Given the description of an element on the screen output the (x, y) to click on. 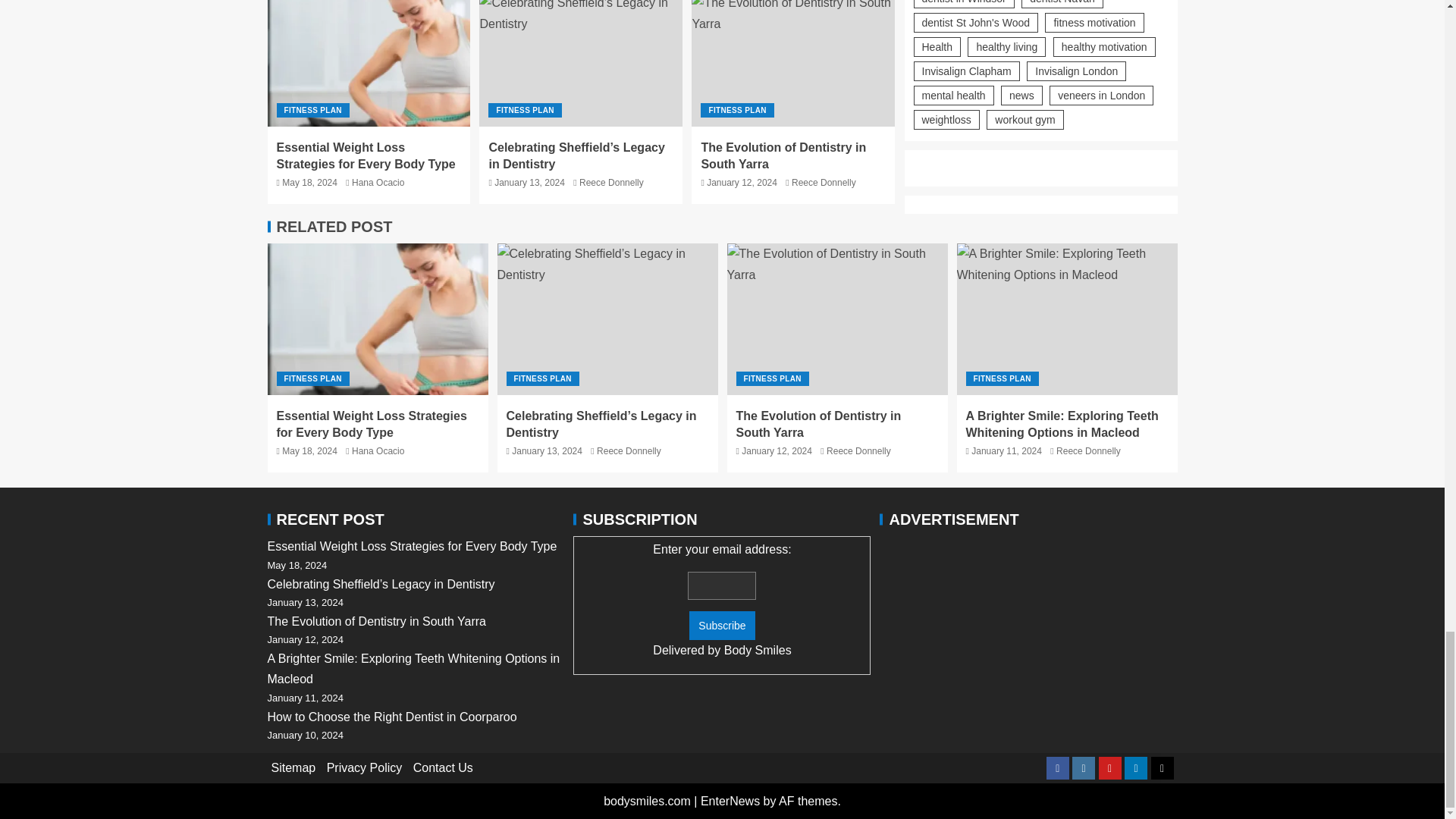
weight loss strategies (376, 318)
FITNESS PLAN (523, 110)
weight loss strategies (368, 63)
The Evolution of Dentistry in South Yarra (793, 63)
Subscribe (721, 624)
The Evolution of Dentistry in South Yarra (836, 318)
Essential Weight Loss Strategies for Every Body Type (365, 154)
Hana Ocacio (378, 182)
FITNESS PLAN (312, 110)
